Given the description of an element on the screen output the (x, y) to click on. 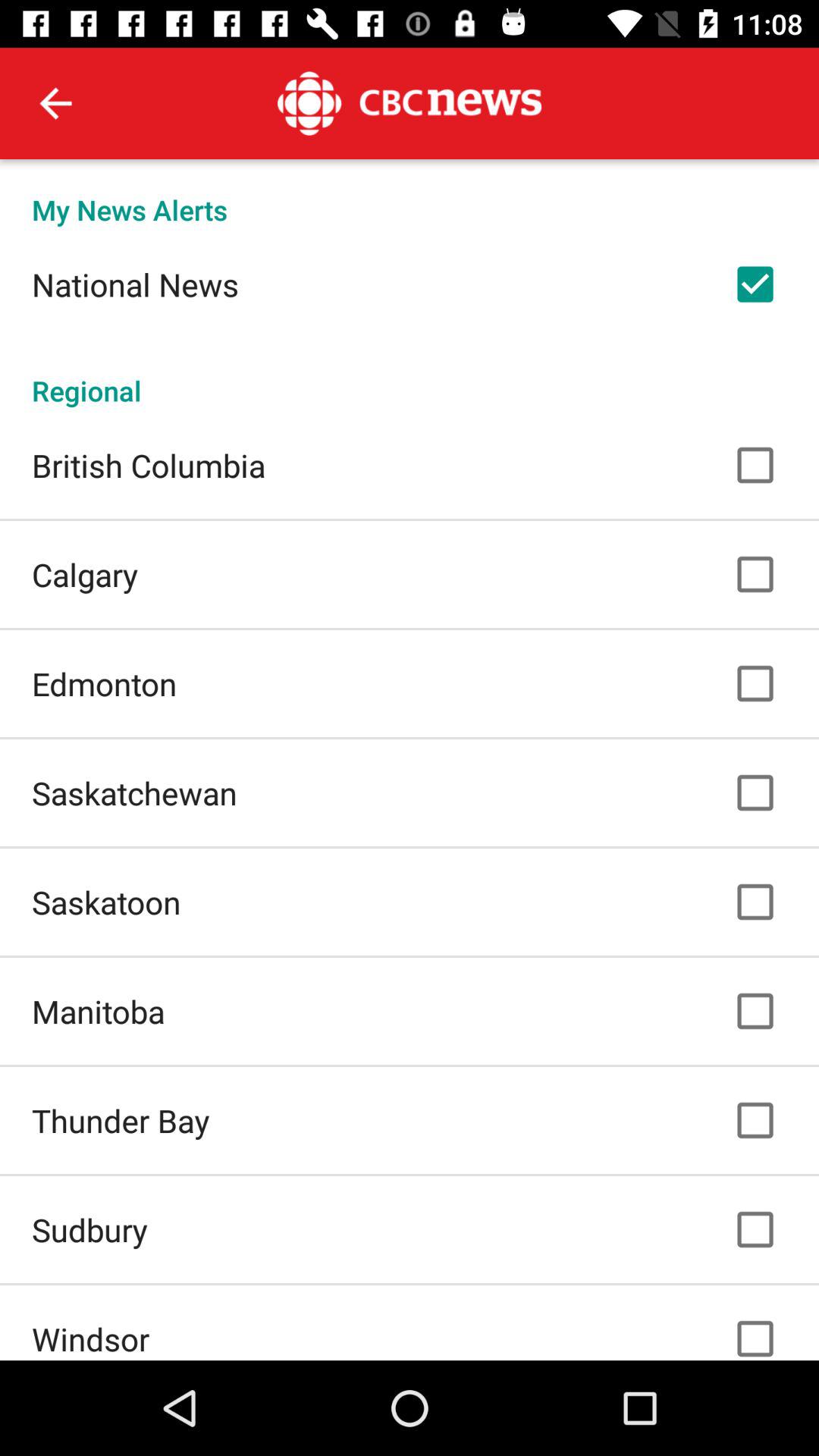
turn off the item below the sudbury icon (90, 1338)
